Given the description of an element on the screen output the (x, y) to click on. 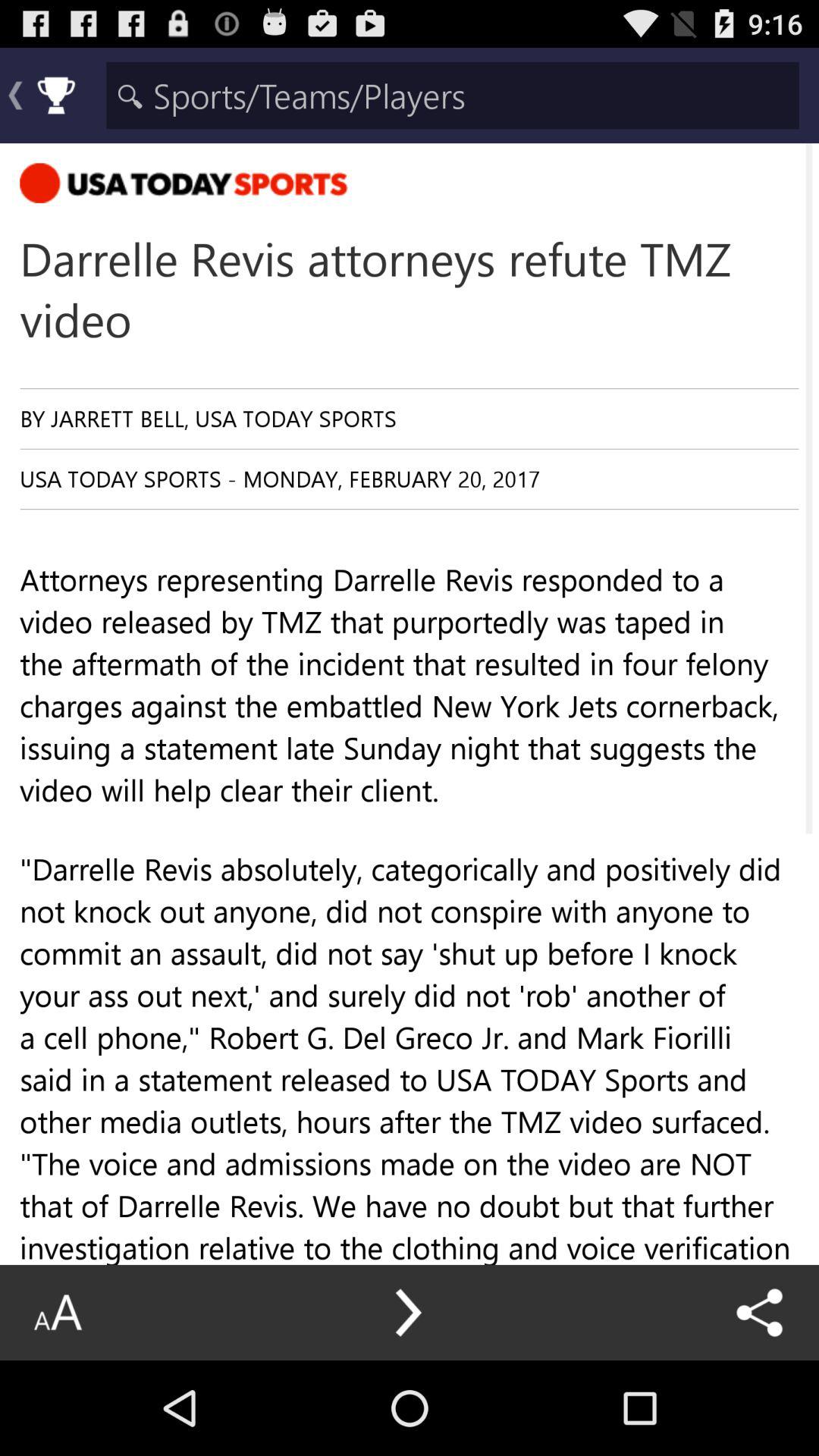
open item below the darrelle revis absolutely item (409, 1355)
